Given the description of an element on the screen output the (x, y) to click on. 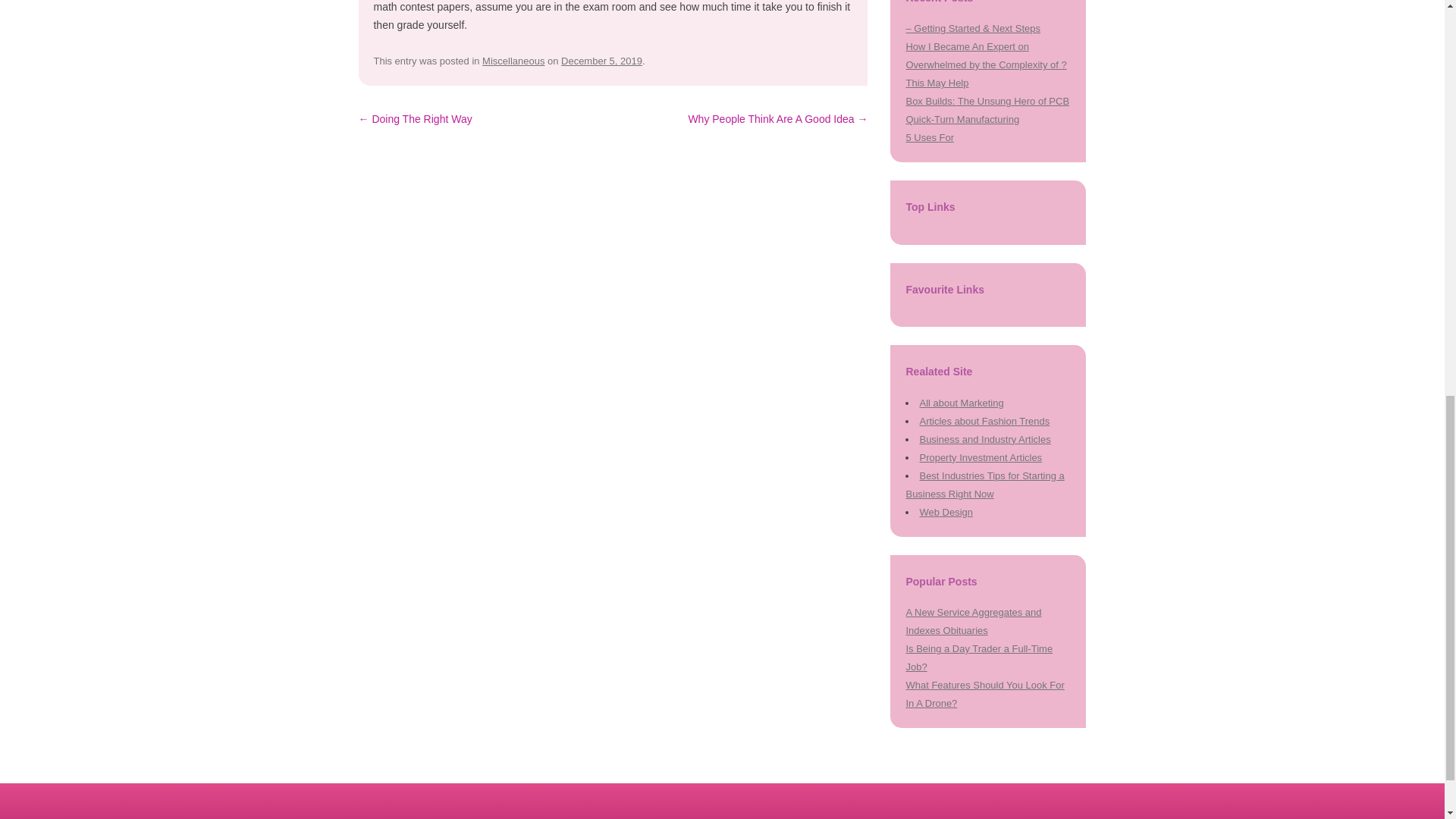
Miscellaneous (512, 60)
4:59 pm (601, 60)
A New Service Aggregates and Indexes Obituaries (973, 621)
What Features Should You Look For In A Drone? (984, 694)
December 5, 2019 (601, 60)
Is Being a Day Trader a Full-Time Job? (978, 657)
